Given the description of an element on the screen output the (x, y) to click on. 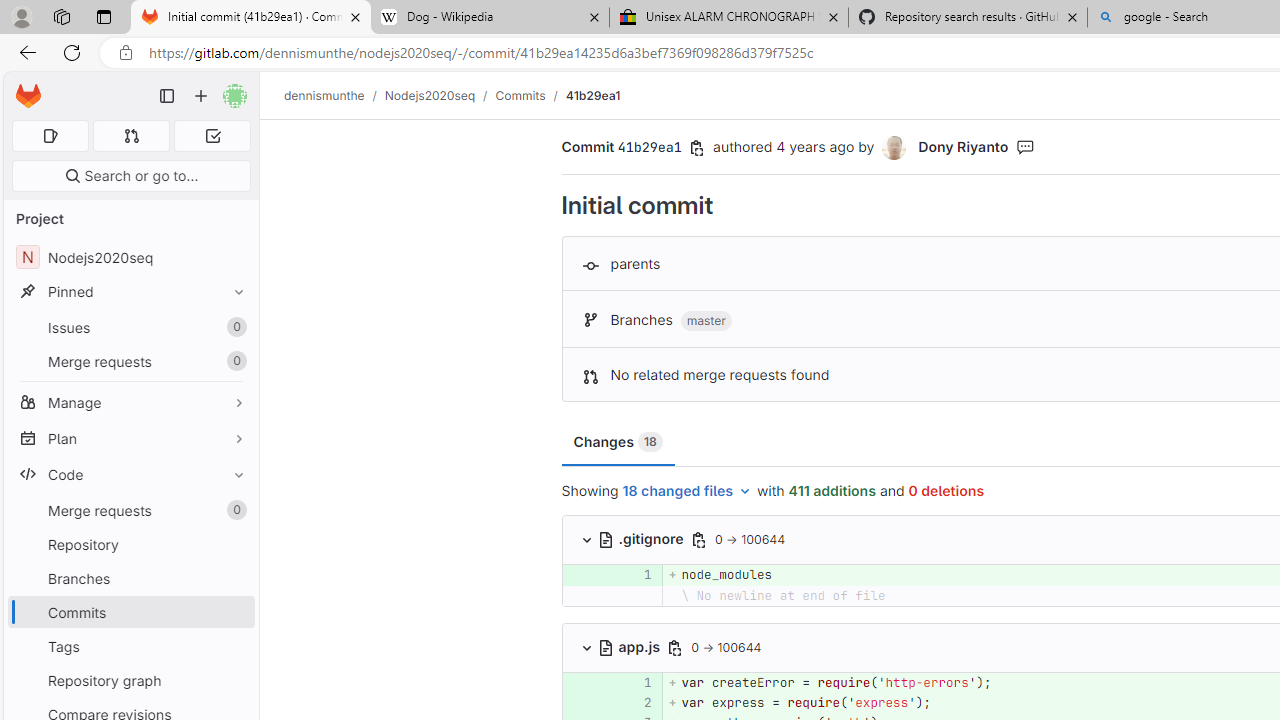
Merge requests 0 (130, 510)
Repository graph (130, 679)
Skip to main content (23, 87)
Merge requests0 (130, 510)
Homepage (27, 96)
Manage (130, 402)
Dony Riyanto (962, 146)
41b29ea1 (592, 95)
Copy file path (675, 647)
NNodejs2020seq (130, 257)
Repository graph (130, 679)
Merge requests 0 (131, 136)
Code (130, 474)
